Given the description of an element on the screen output the (x, y) to click on. 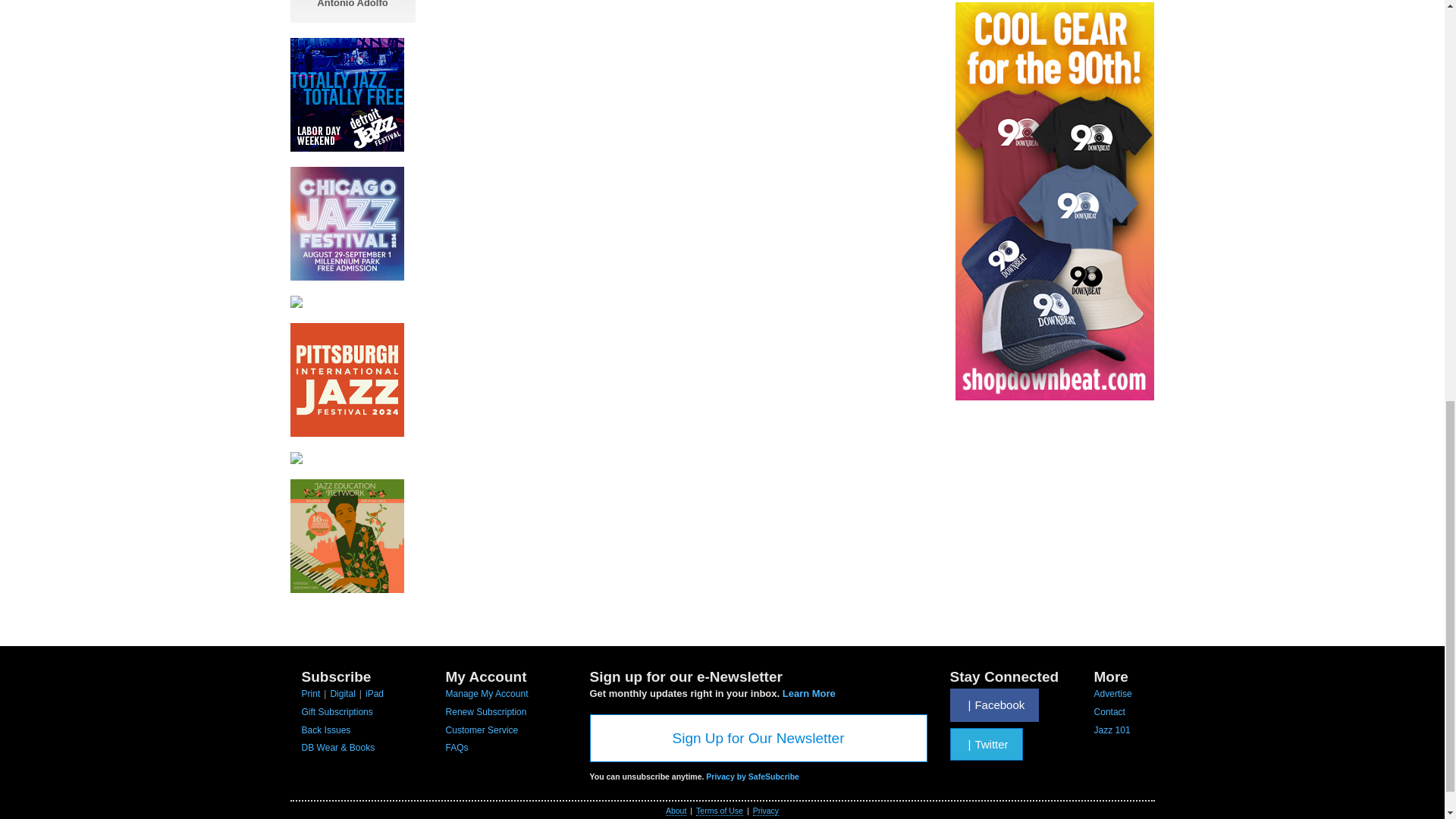
Digital (342, 693)
Back Issues (325, 729)
Gift Subscriptions (336, 711)
iPad (374, 693)
Print (310, 693)
Antonio Adolfo (352, 4)
